Given the description of an element on the screen output the (x, y) to click on. 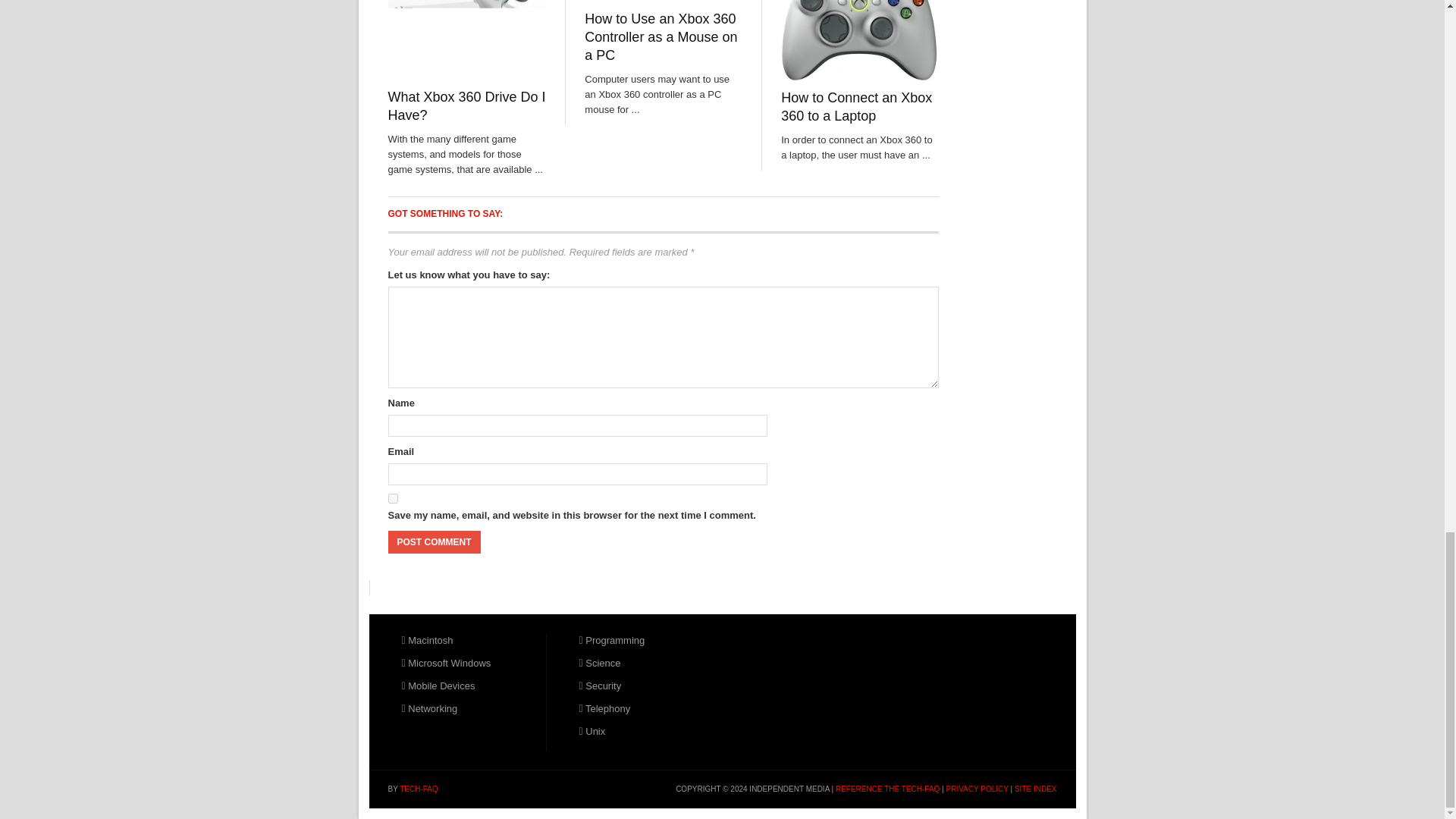
Programming (612, 640)
Post Comment (434, 541)
Microsoft Windows (446, 663)
Post Comment (434, 541)
Science (600, 663)
TECH-FAQ (418, 788)
How to Use an Xbox 360 Controller as a Mouse on a PC (660, 37)
yes (392, 498)
SITE INDEX (1035, 788)
Macintosh (426, 640)
How to Use an Xbox 360 Controller as a Mouse on a PC (660, 37)
Mobile Devices (438, 685)
What Xbox 360 Drive Do I Have? (467, 105)
How to Connect an Xbox 360 to a Laptop (855, 106)
Security (600, 685)
